Given the description of an element on the screen output the (x, y) to click on. 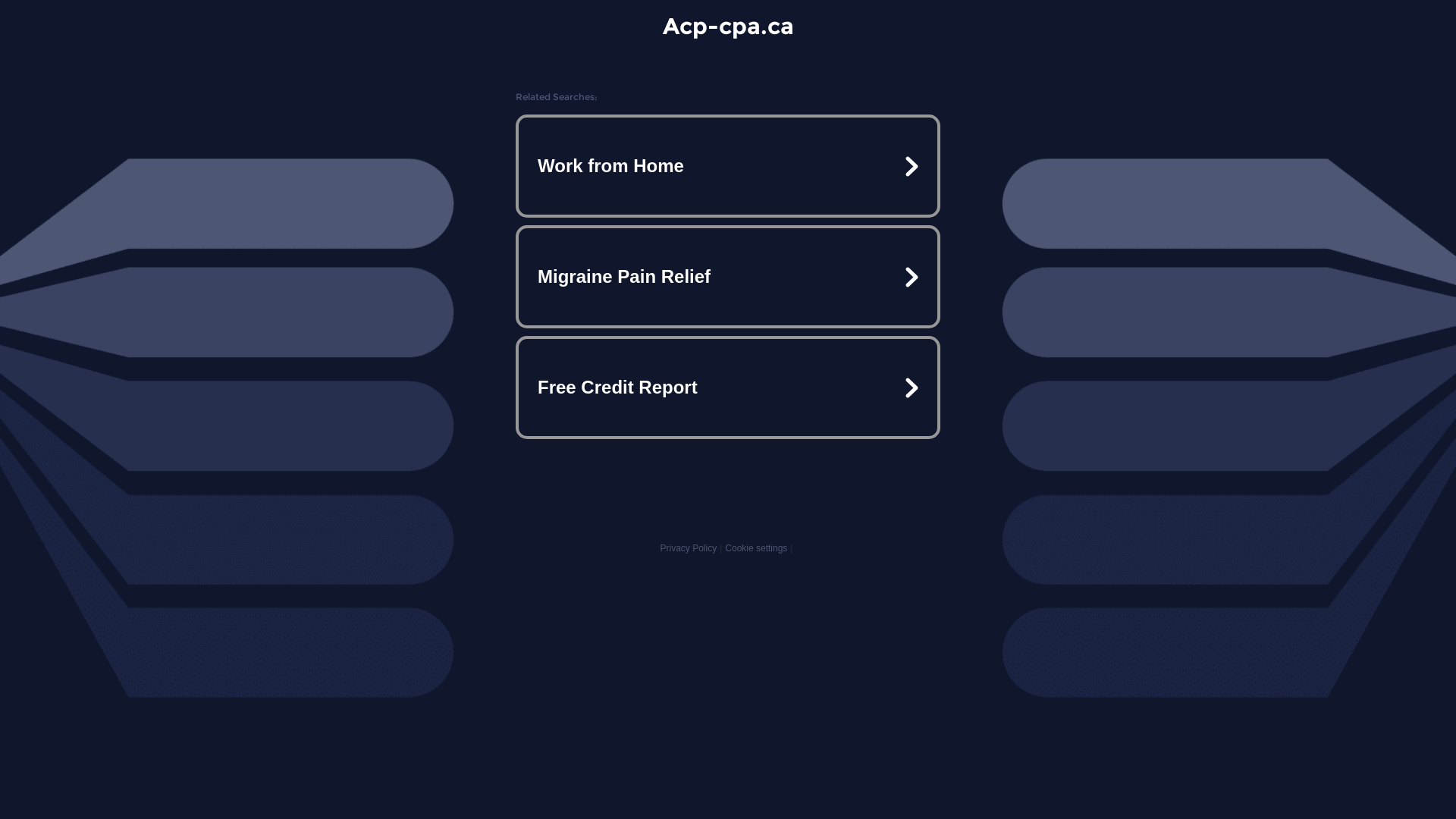
Acp-cpa.ca Element type: text (727, 26)
Cookie settings Element type: text (755, 547)
Free Credit Report Element type: text (727, 387)
Privacy Policy Element type: text (687, 547)
Migraine Pain Relief Element type: text (727, 276)
Work from Home Element type: text (727, 165)
